Given the description of an element on the screen output the (x, y) to click on. 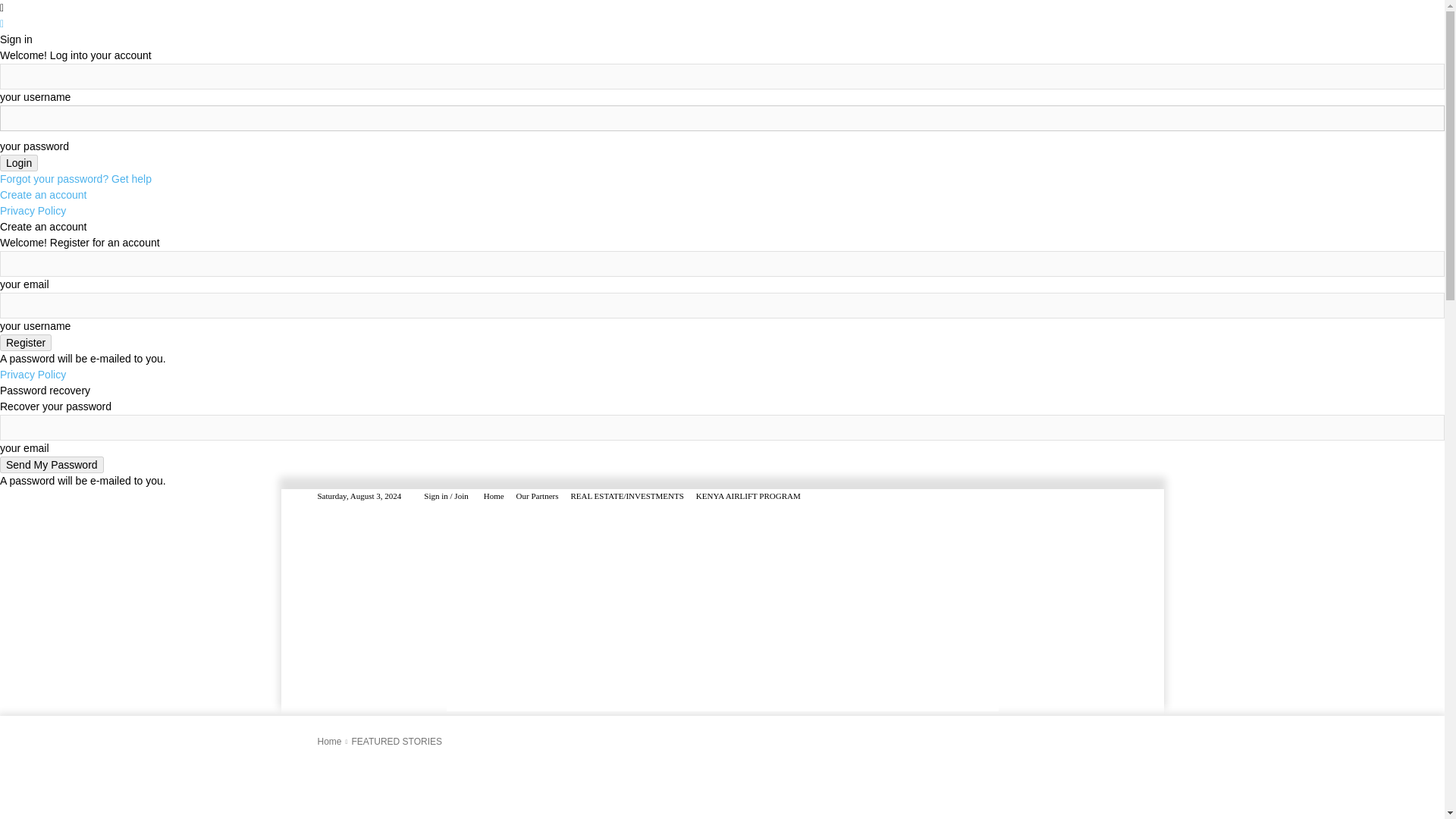
Diaspora Messenger (427, 553)
KENYA NEWS (398, 624)
Privacy Policy (32, 374)
KENYA AIRLIFT PROGRAM (747, 496)
Register (25, 342)
Login (18, 162)
OBITUARIES (771, 624)
Create an account (42, 194)
Home (493, 496)
NEWS (332, 624)
Send My Password (51, 464)
Our Partners (537, 496)
KENYA DIASPORA NEWS (510, 624)
Forgot your password? Get help (75, 178)
Privacy Policy (32, 210)
